Given the description of an element on the screen output the (x, y) to click on. 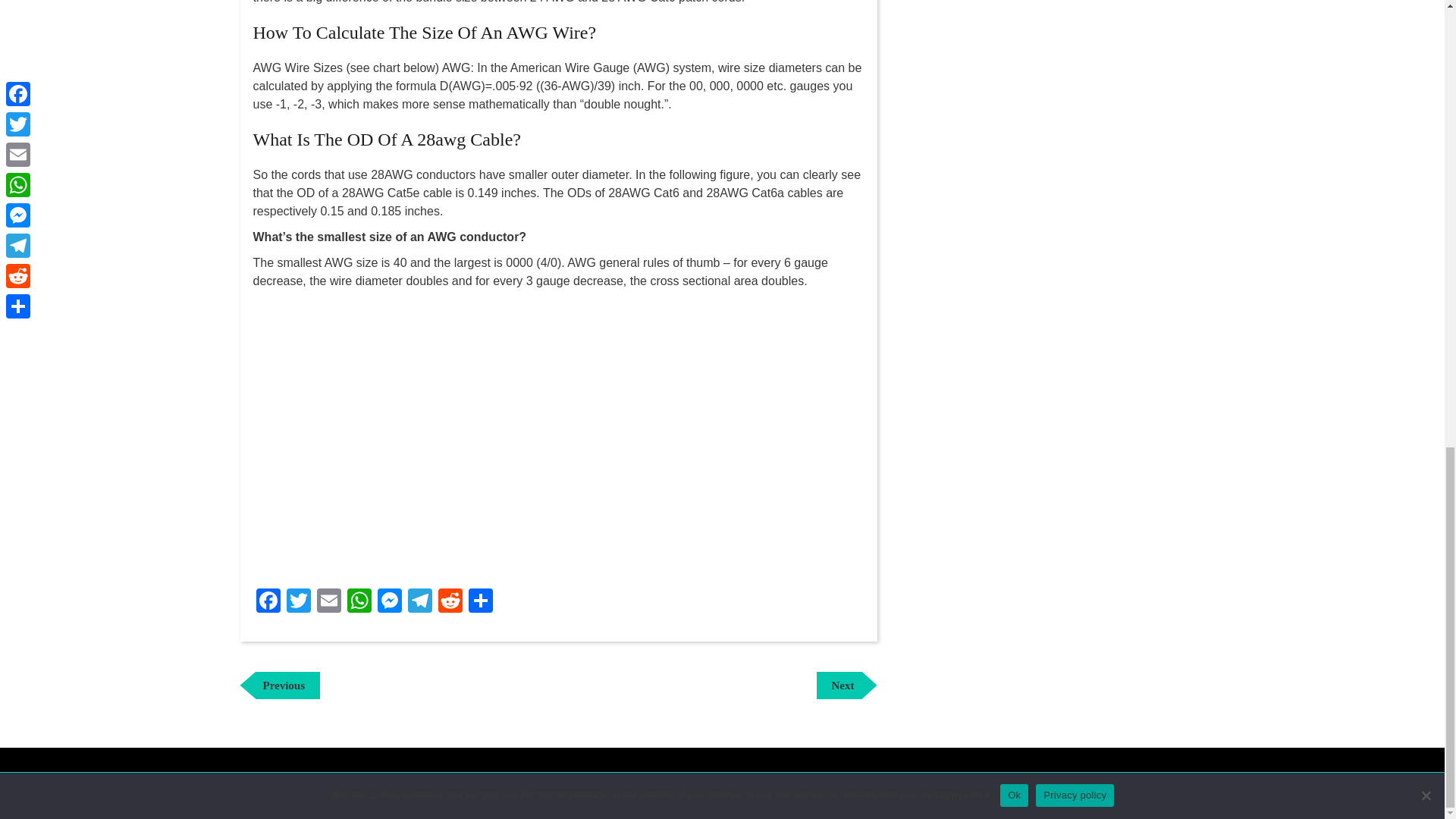
Twitter (298, 602)
Messenger (389, 602)
Reddit (450, 602)
Reddit (450, 602)
WhatsApp (358, 602)
Twitter (298, 602)
Email (328, 602)
Telegram (419, 602)
Facebook (268, 602)
Telegram (845, 685)
Email (419, 602)
Facebook (328, 602)
WhatsApp (268, 602)
